Given the description of an element on the screen output the (x, y) to click on. 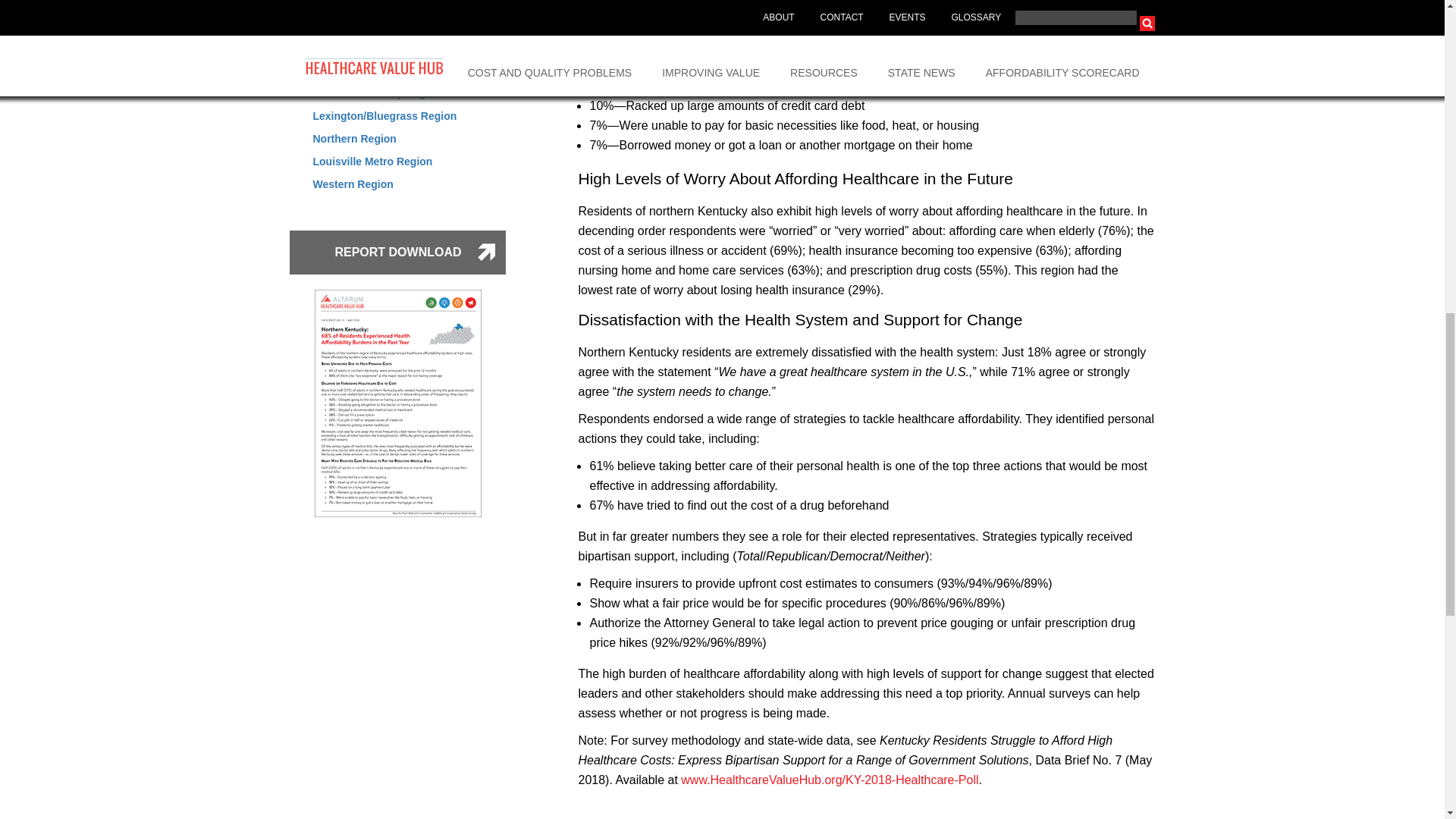
Kentucky 2018 State Survey (829, 779)
Statewide Affordability Report (388, 4)
